Given the description of an element on the screen output the (x, y) to click on. 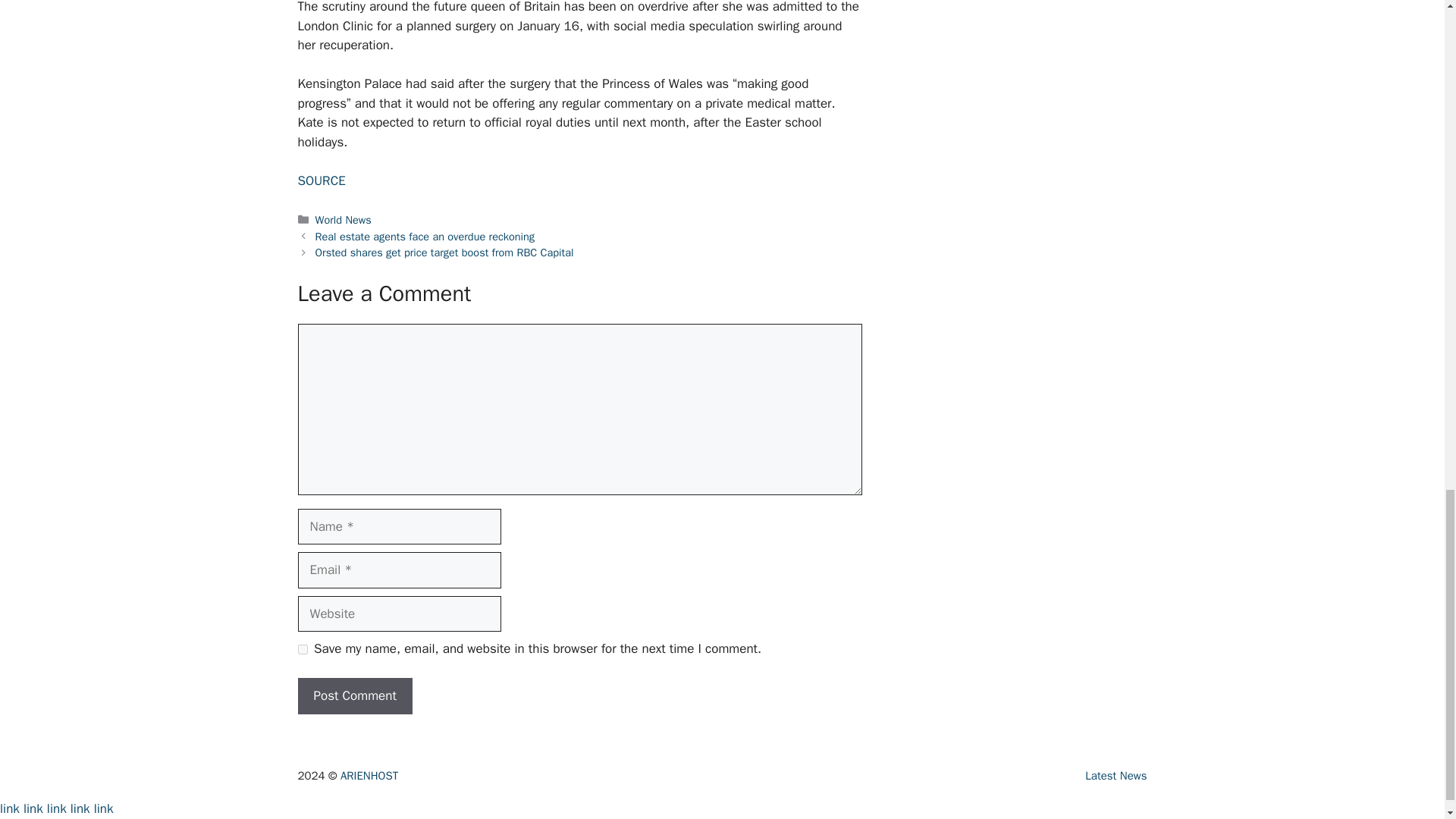
Post Comment (354, 696)
link (10, 808)
Real estate agents face an overdue reckoning (424, 236)
link (103, 808)
Scroll back to top (1406, 276)
yes (302, 649)
Orsted shares get price target boost from RBC Capital (444, 252)
World News (343, 219)
link (79, 808)
SOURCE (321, 180)
Latest News (1115, 775)
Post Comment (354, 696)
link (33, 808)
link (56, 808)
ARIENHOST (368, 775)
